Given the description of an element on the screen output the (x, y) to click on. 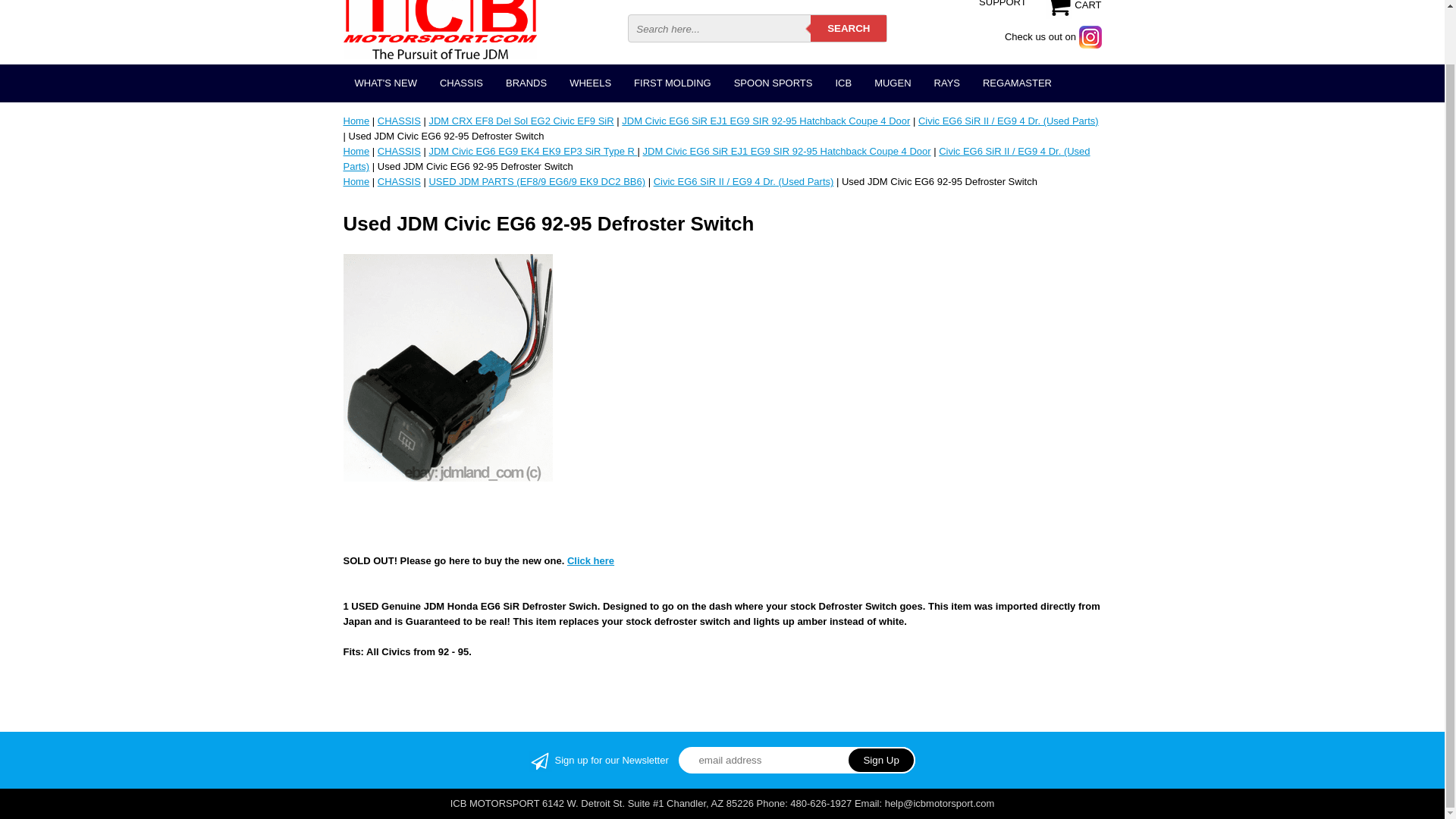
WHAT'S NEW (385, 83)
SEARCH (848, 28)
SUPPORT (1002, 4)
Sign Up (881, 759)
Support (1002, 4)
ICBMOTORSPORT.COM (438, 22)
Instagram (1053, 35)
Check us out on (1053, 35)
SEARCH (848, 28)
SEARCH (848, 28)
CART (1073, 5)
